Given the description of an element on the screen output the (x, y) to click on. 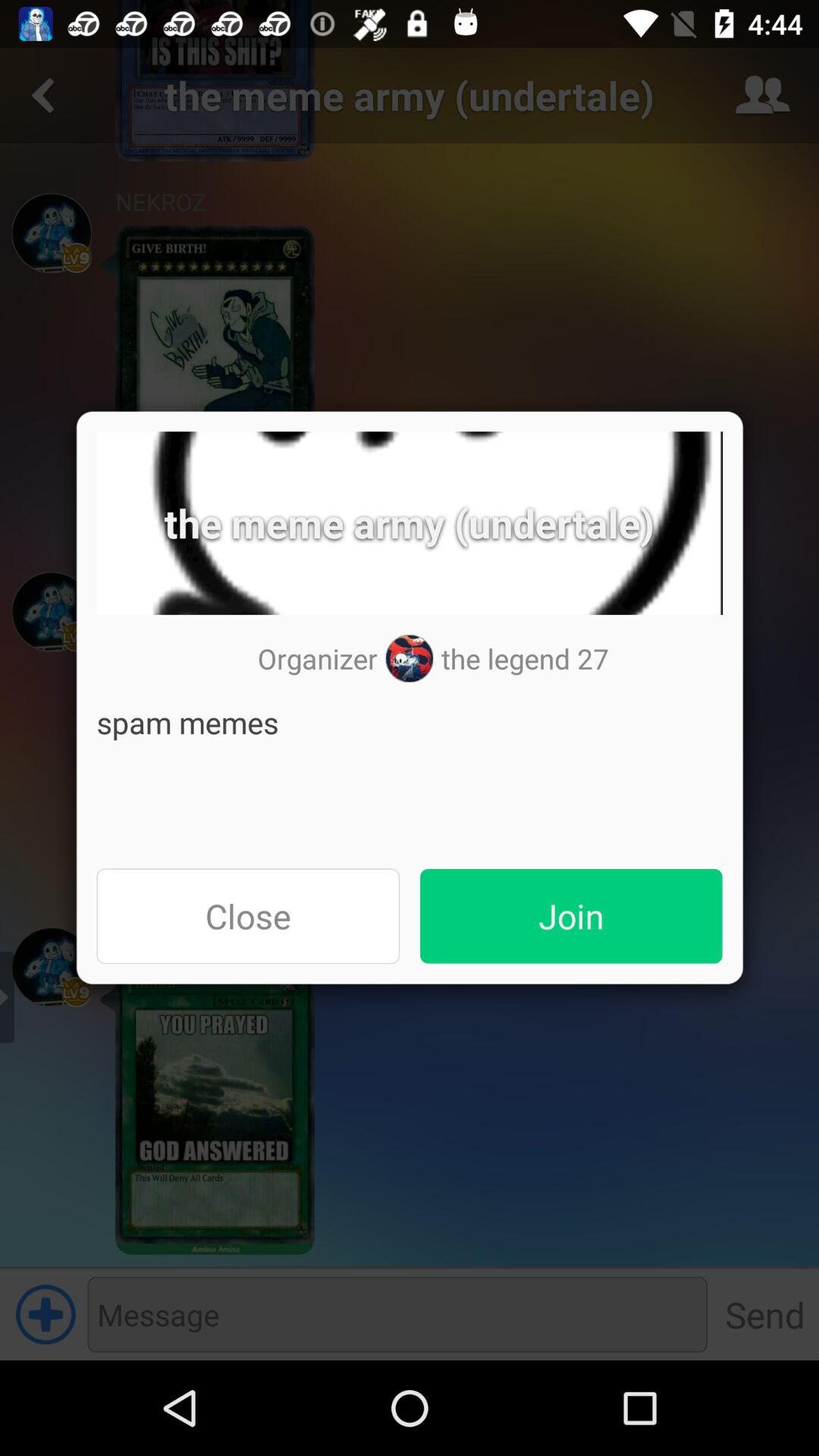
turn off the join button (570, 916)
